Given the description of an element on the screen output the (x, y) to click on. 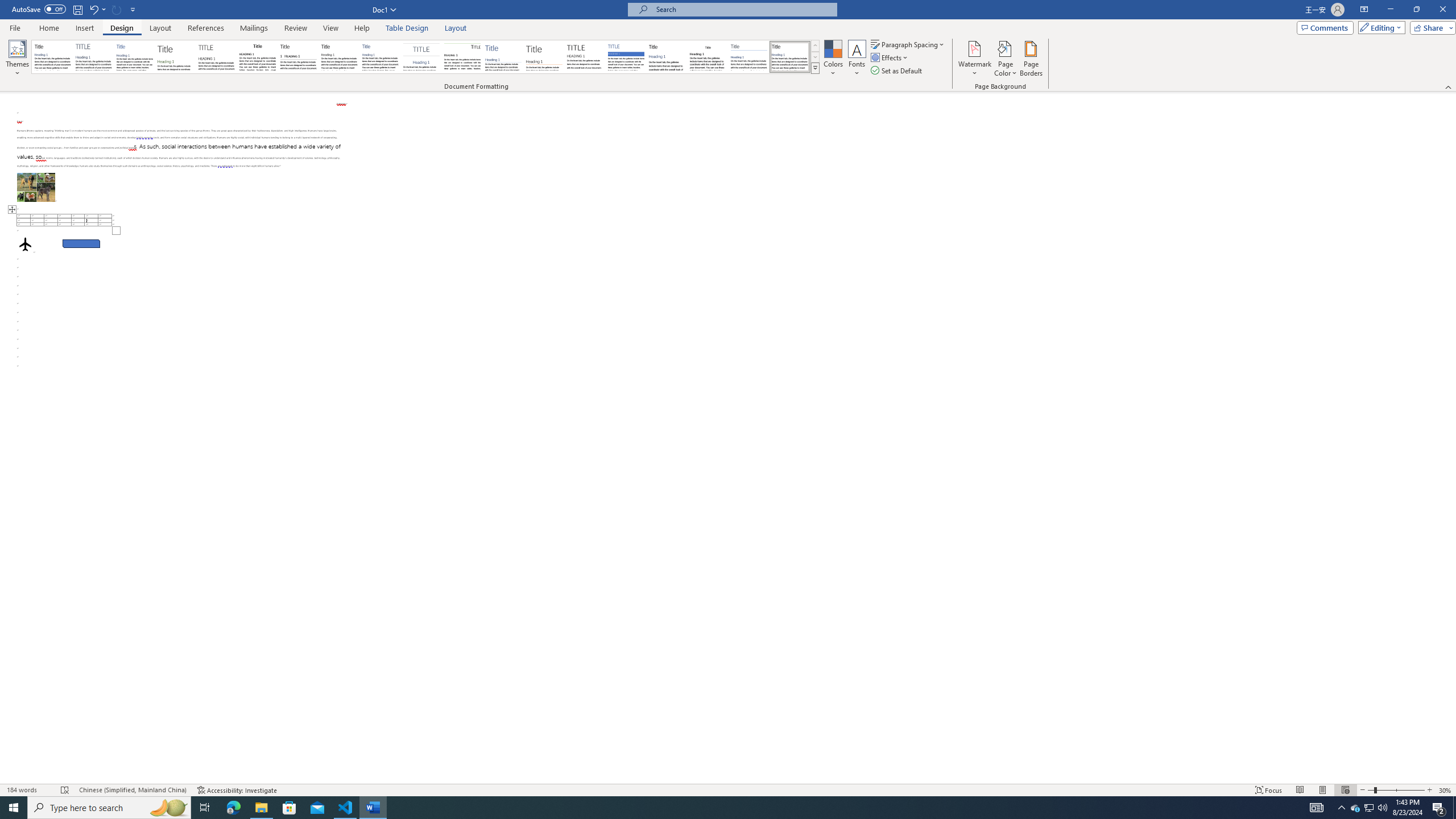
Fonts (856, 58)
Rectangle: Diagonal Corners Snipped 2 (81, 243)
Lines (Stylish) (544, 56)
Centered (421, 56)
Document (52, 56)
Undo Apply Quick Style Set (96, 9)
